Given the description of an element on the screen output the (x, y) to click on. 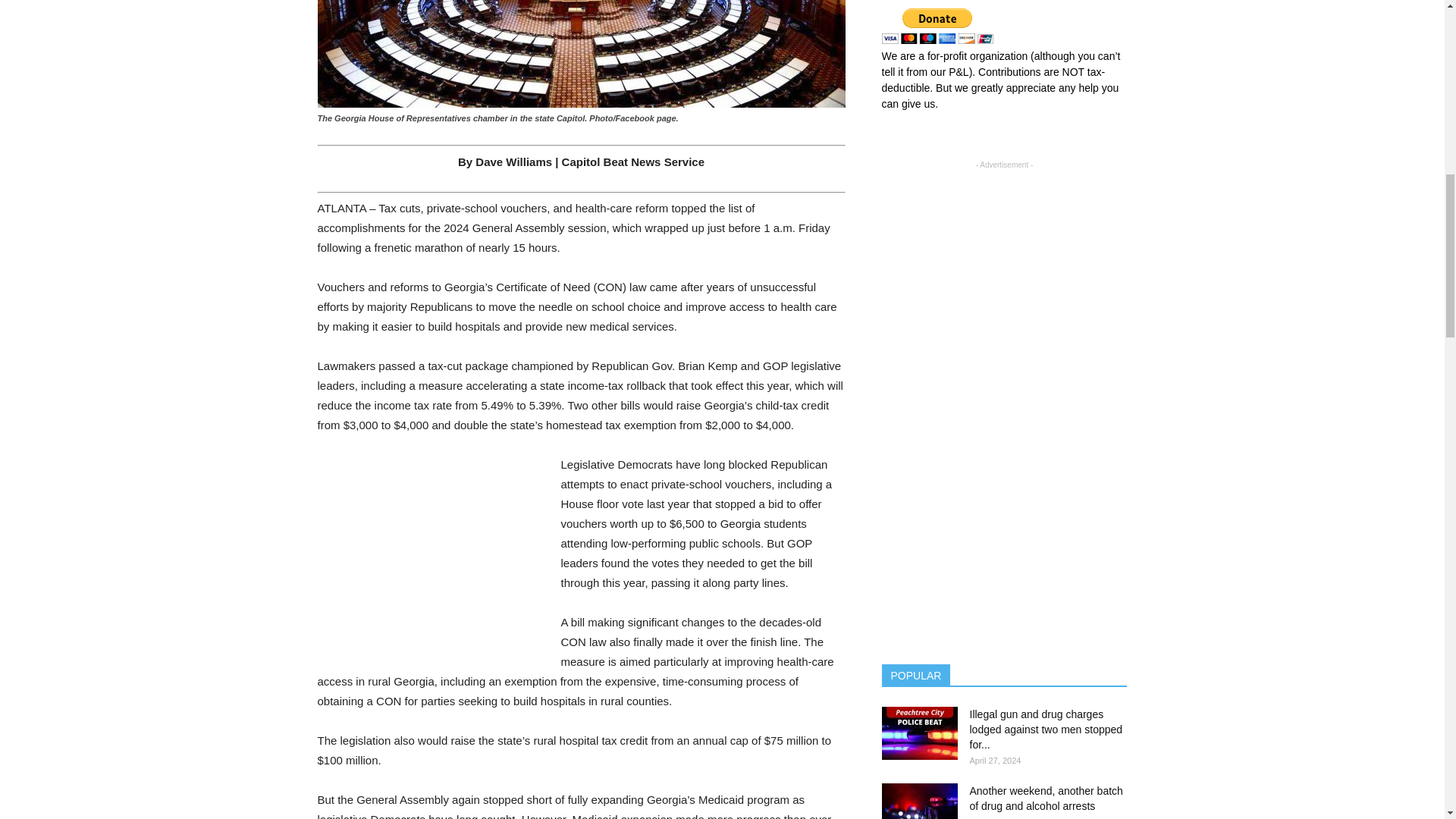
PayPal - The safer, easier way to pay online! (936, 26)
Another weekend, another batch of drug and alcohol arrests (918, 800)
3rd party ad content (430, 556)
